Given the description of an element on the screen output the (x, y) to click on. 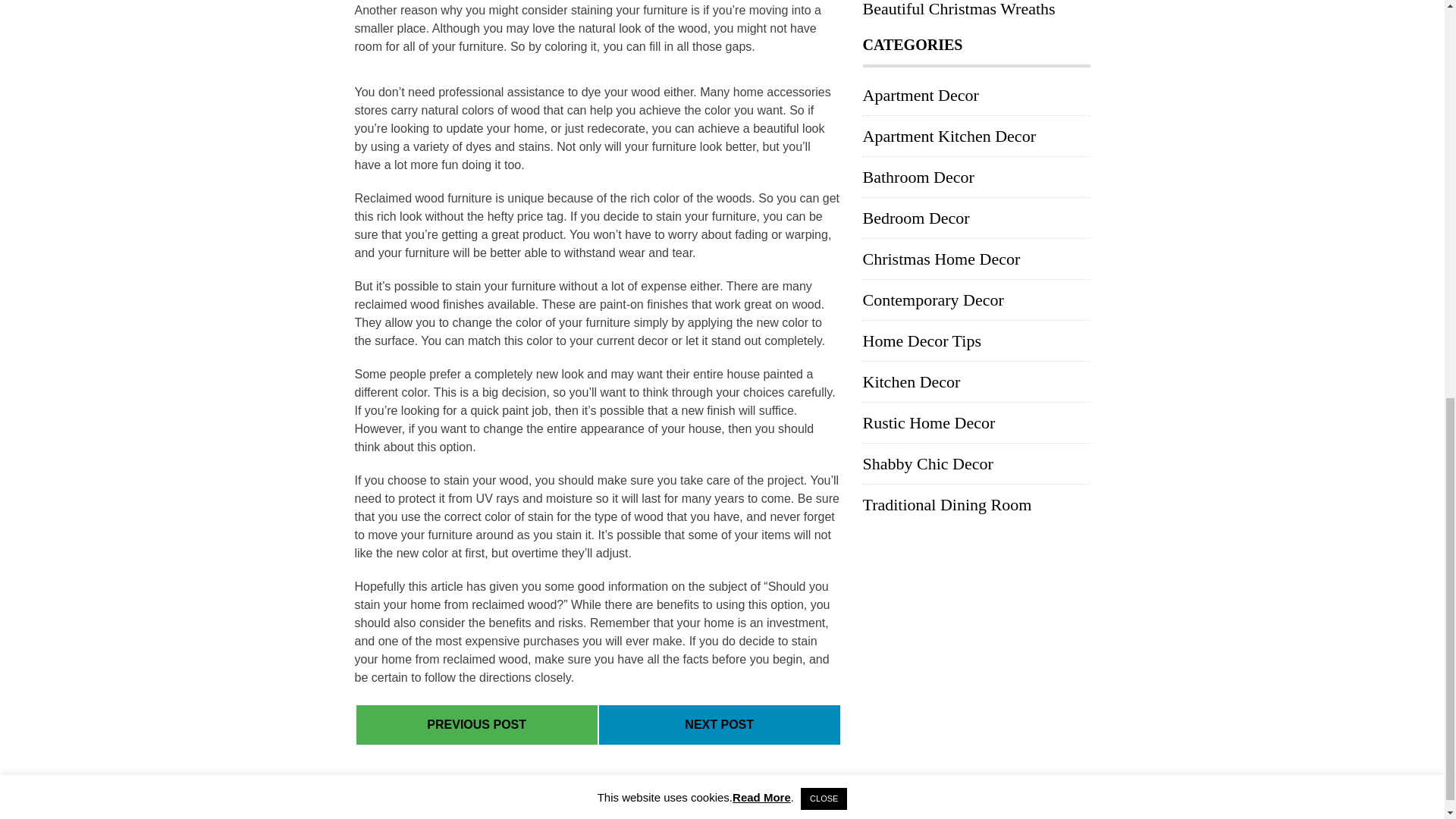
PREVIOUS POST (476, 724)
PREVIOUS POST (476, 724)
Rustic Home Decor (929, 422)
Apartment Decor (920, 94)
What Color Furniture Goes With Brown Cabinets? (476, 724)
Contact Us (1053, 800)
NEXT POST (719, 724)
Bedroom Decor (916, 217)
Traditional Dining Room (947, 504)
Read More (761, 10)
Apartment Kitchen Decor (949, 135)
Bathroom Decor (918, 176)
Contemporary Decor (933, 299)
CLOSE (823, 11)
Christmas Home Decor (941, 258)
